Given the description of an element on the screen output the (x, y) to click on. 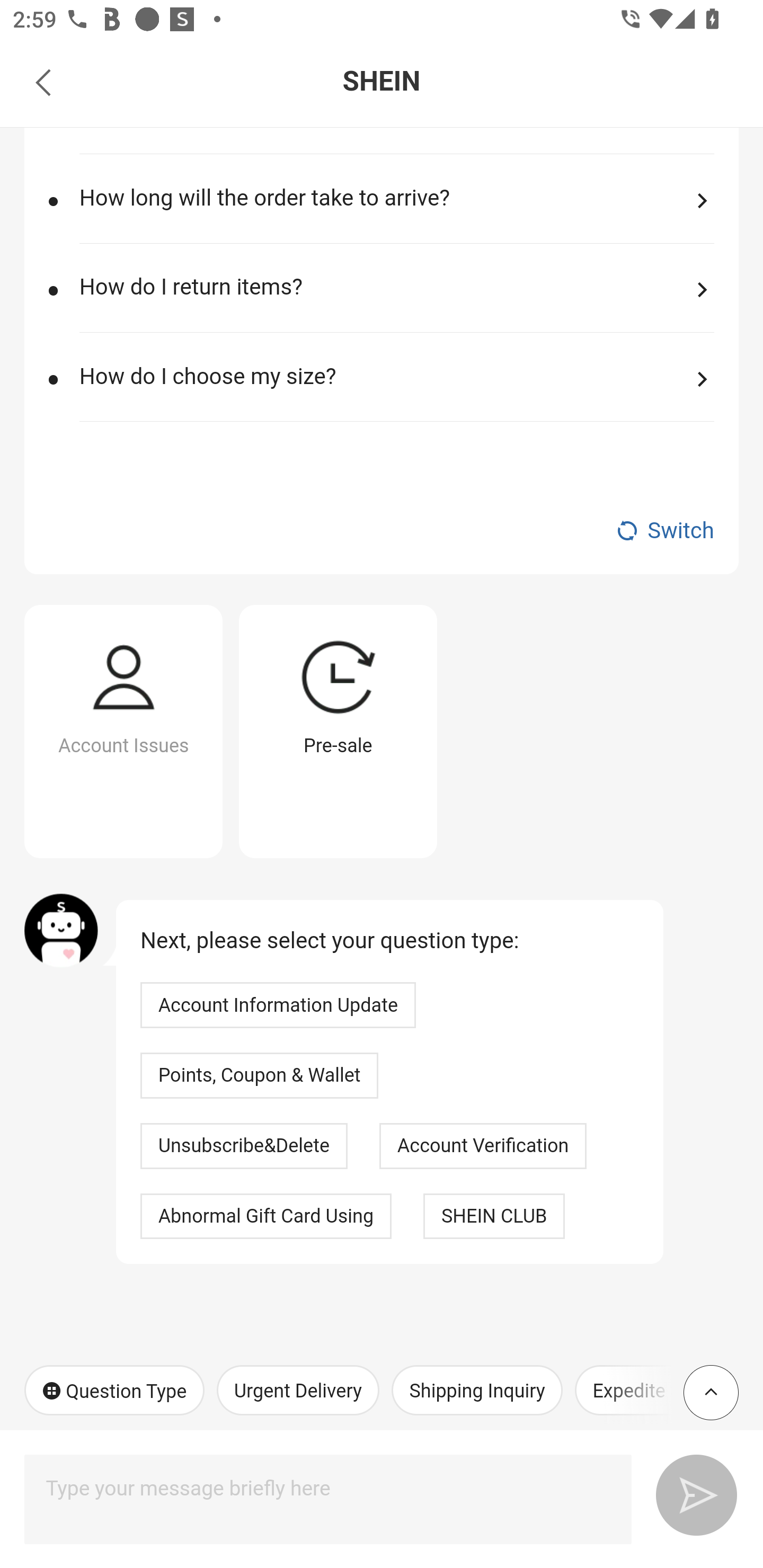
Back (43, 81)
How long will the order take to arrive?  (396, 212)
How do I return items?  (396, 301)
How do I choose my size?  (396, 391)
Account Information Update (277, 1004)
Points, Coupon & Wallet (259, 1075)
Unsubscribe&Delete (243, 1145)
Account Verification (483, 1145)
Abnormal Gift Card Using (265, 1215)
SHEIN CLUB (494, 1215)
Enter (688, 1492)
